Given the description of an element on the screen output the (x, y) to click on. 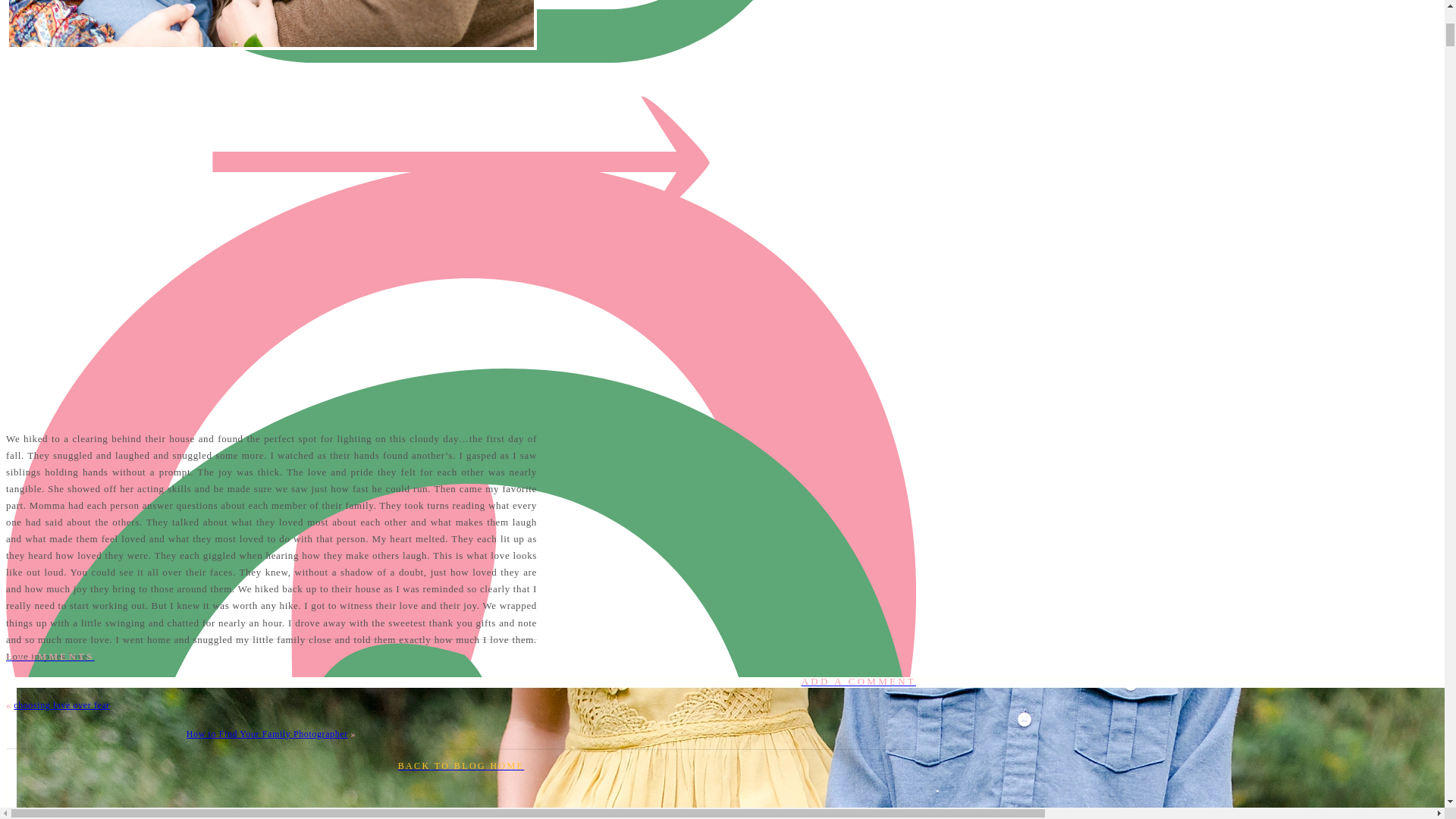
ADD A COMMENT (460, 680)
